Given the description of an element on the screen output the (x, y) to click on. 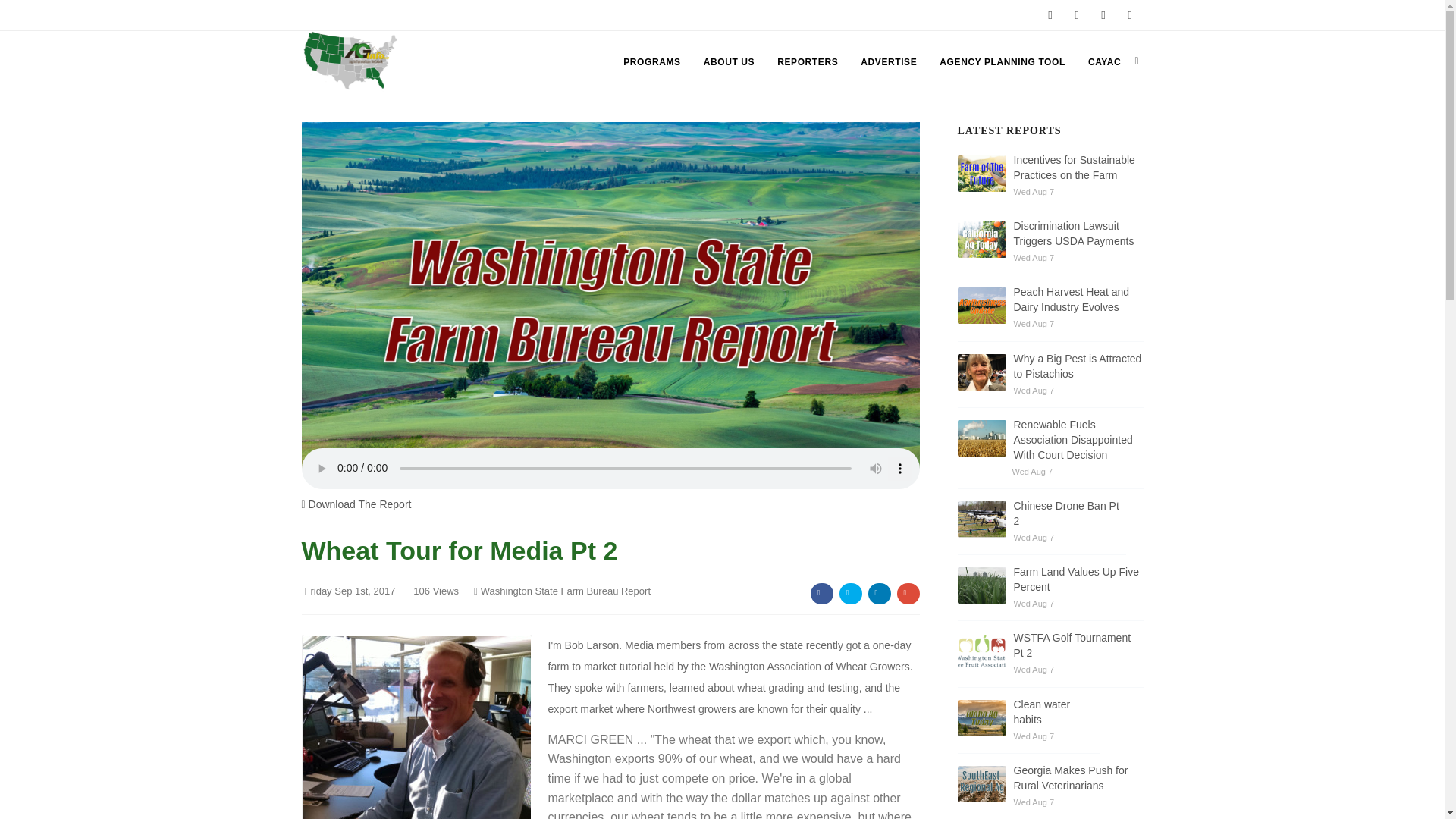
ABOUT US (728, 62)
PROGRAMS (651, 62)
